Given the description of an element on the screen output the (x, y) to click on. 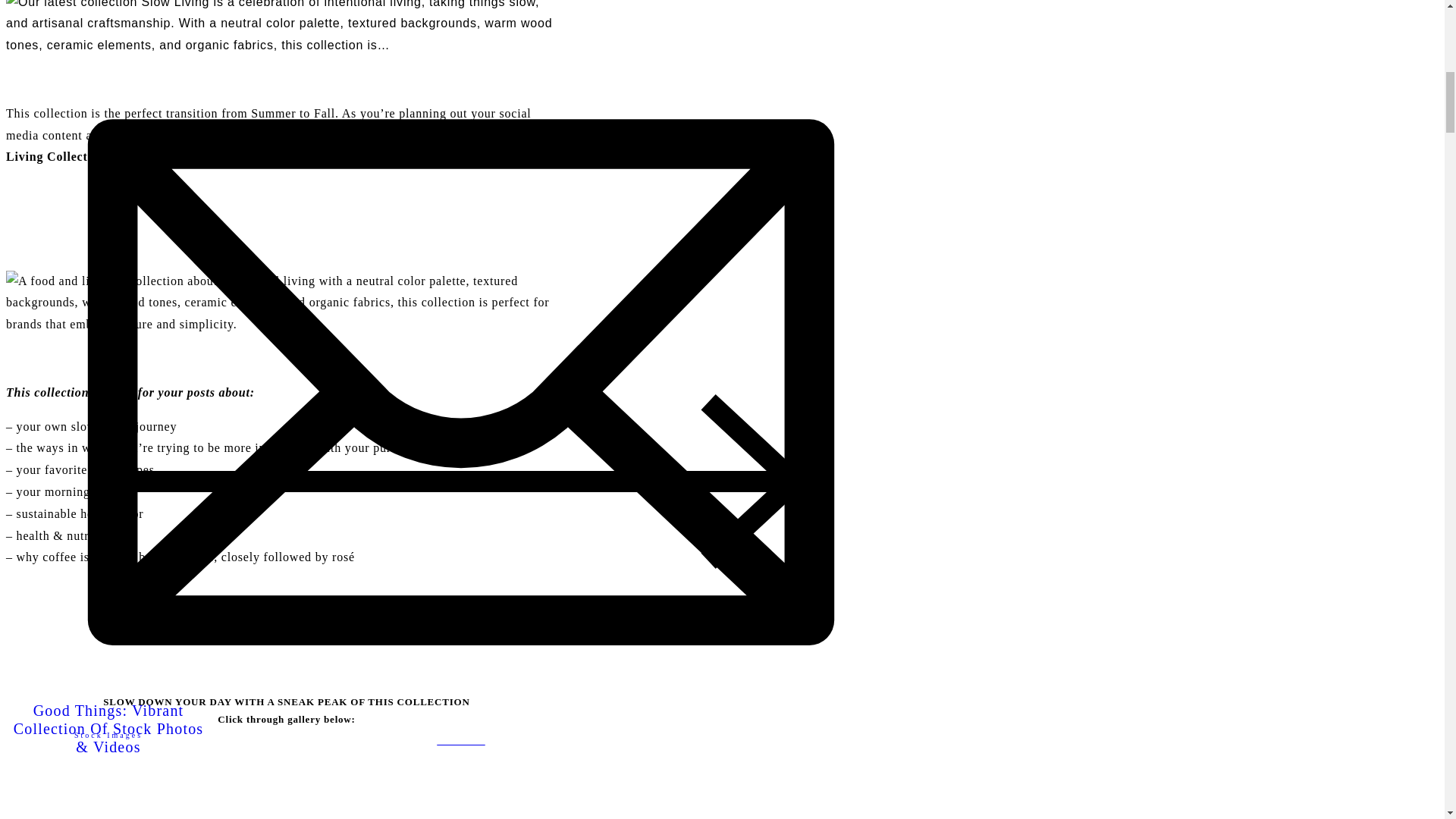
Stock Images (108, 735)
download (460, 741)
